Given the description of an element on the screen output the (x, y) to click on. 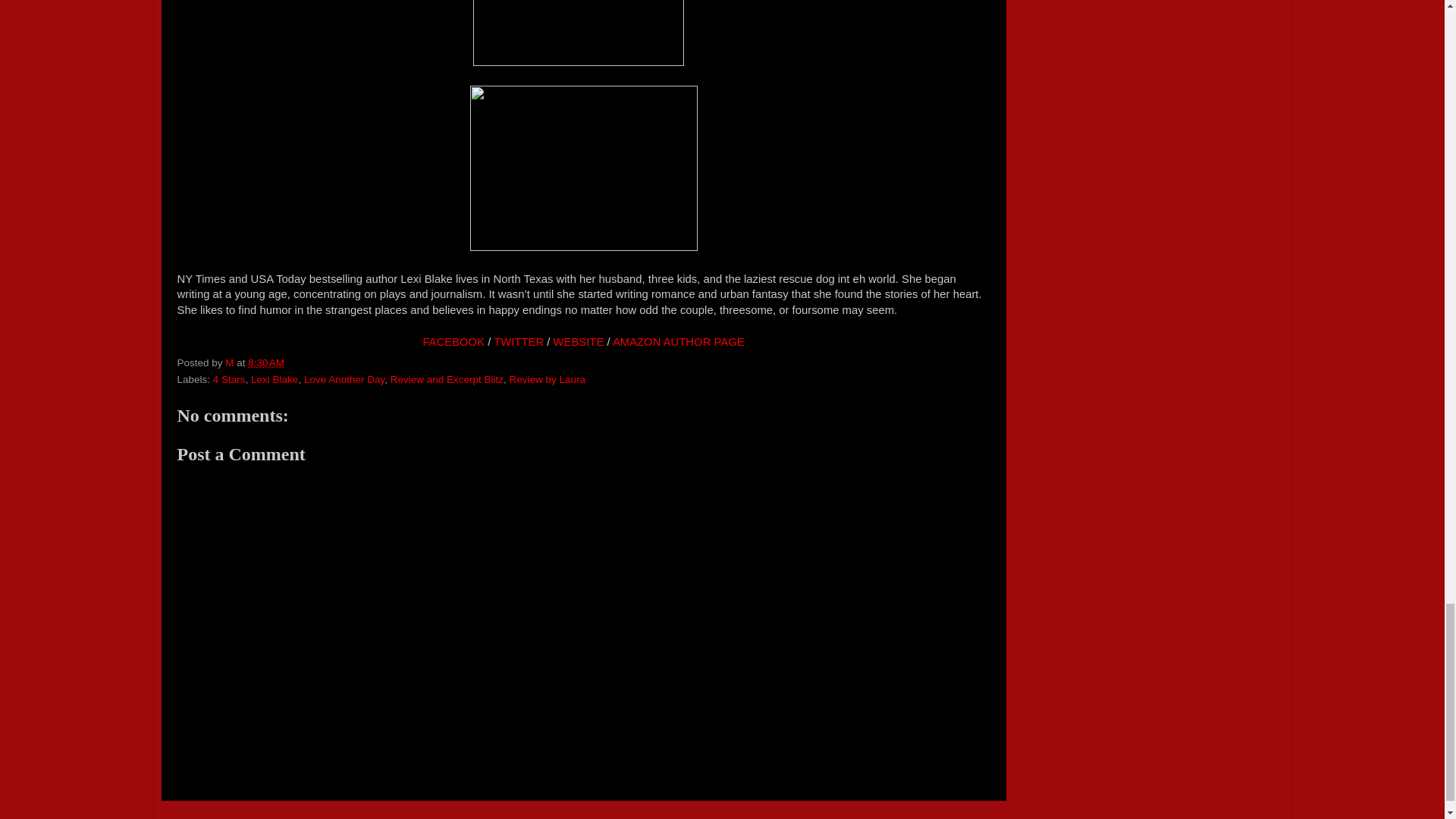
AMAZON AUTHOR PAGE (678, 341)
TWITTER (518, 341)
FACEBOOK (453, 341)
M (230, 362)
permanent link (265, 362)
WEBSITE (578, 341)
Lexi Blake (274, 378)
Love Another Day (344, 378)
4 Stars (229, 378)
author profile (230, 362)
Review by Laura (547, 378)
Review and Excerpt Blitz (446, 378)
